Given the description of an element on the screen output the (x, y) to click on. 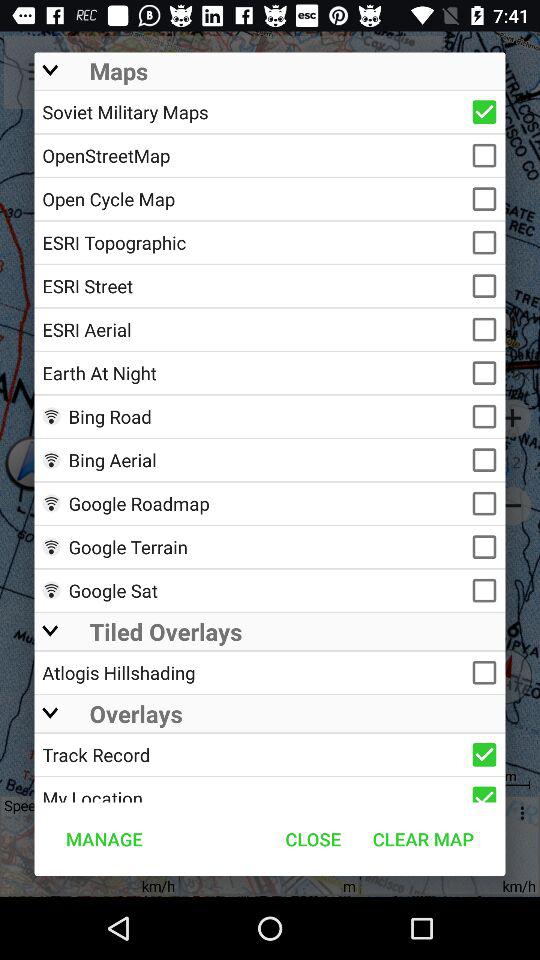
select item to the left of the close icon (104, 838)
